Given the description of an element on the screen output the (x, y) to click on. 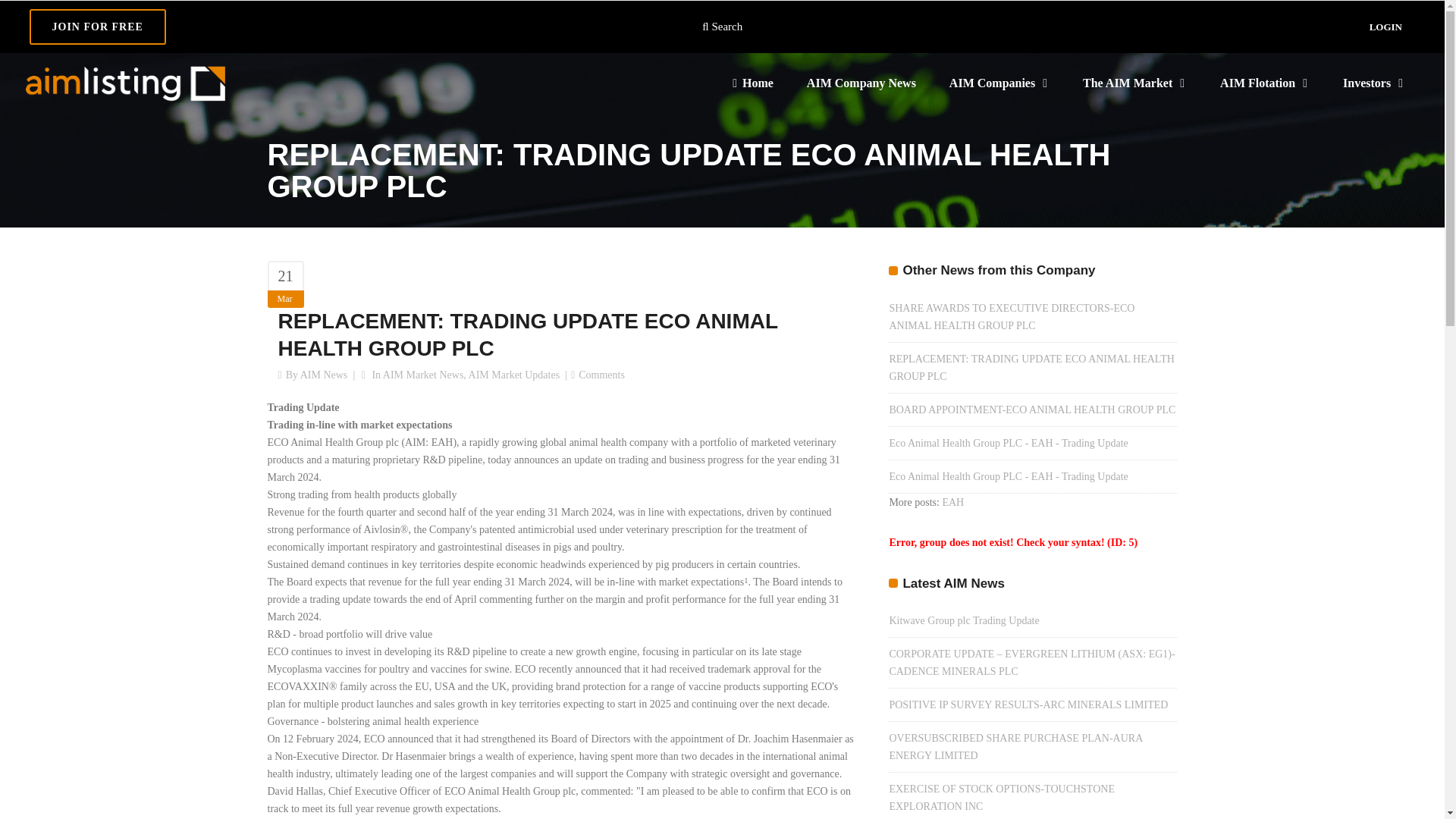
Search (721, 25)
AIM Companies (999, 83)
JOIN FOR FREE (97, 27)
U (975, 412)
Home (753, 83)
AIM Company News (861, 83)
LOGIN (1391, 26)
